Given the description of an element on the screen output the (x, y) to click on. 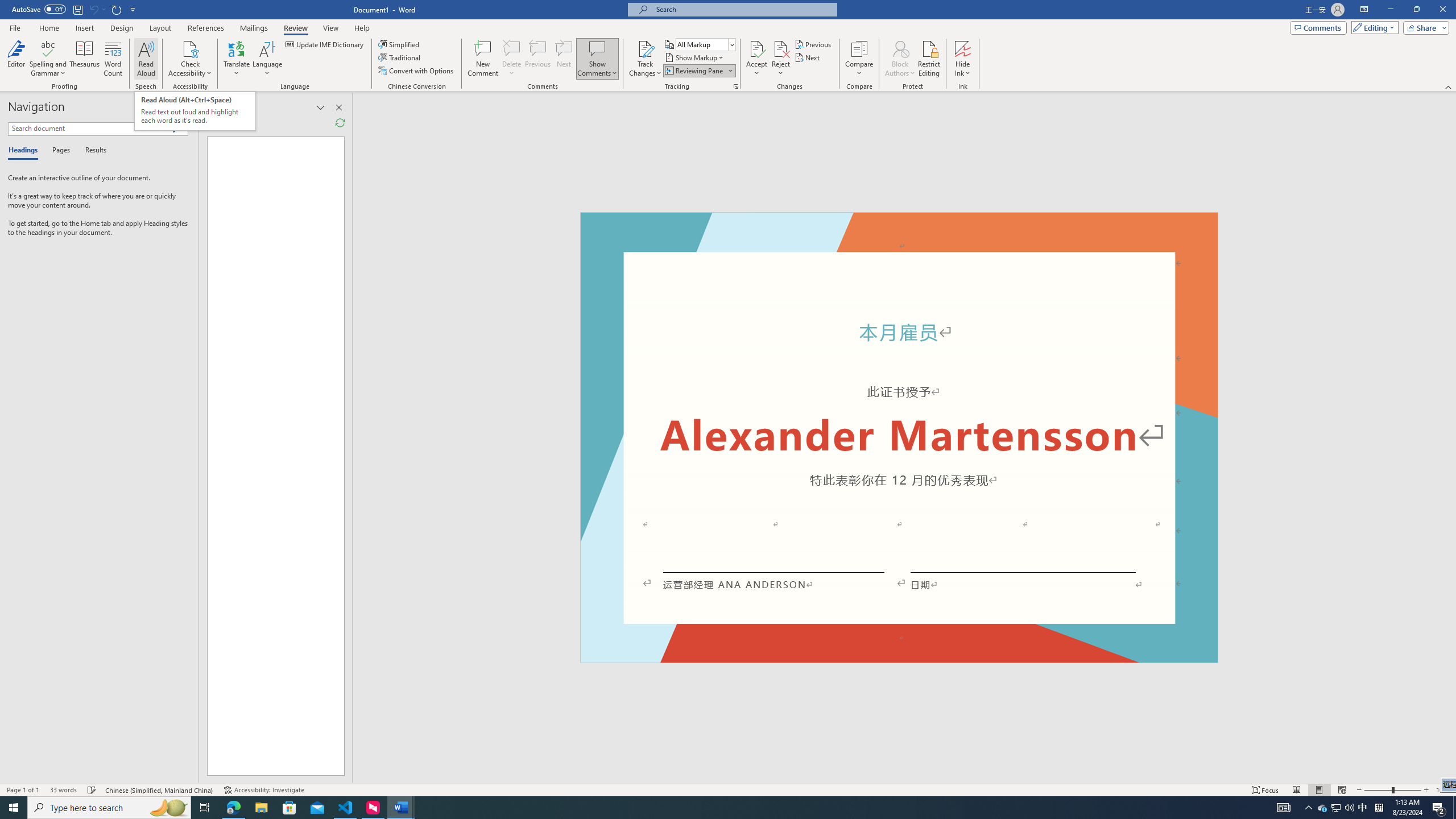
Open (731, 44)
Show Comments (597, 58)
Refresh Reviewing Pane (339, 122)
Collapse the Ribbon (1448, 86)
Change Tracking Options... (735, 85)
Decorative (898, 437)
Accept (756, 58)
Reject (780, 58)
Class: NetUIImage (177, 128)
Footer -Section 1- (898, 657)
Compare (859, 58)
Read Aloud (145, 58)
Review (295, 28)
